Given the description of an element on the screen output the (x, y) to click on. 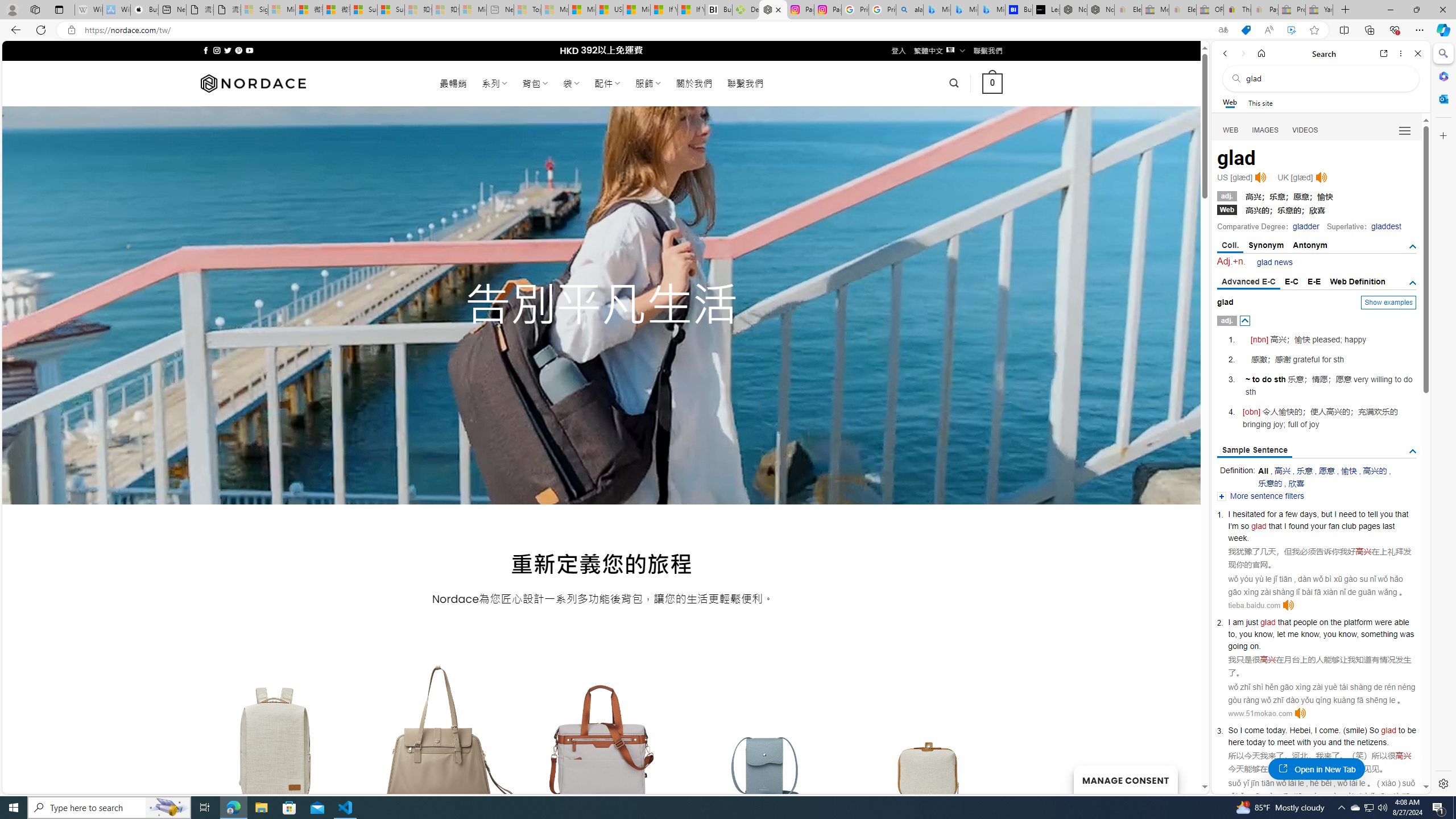
gladdest (1385, 225)
www.51mokao.com (1259, 713)
